Given the description of an element on the screen output the (x, y) to click on. 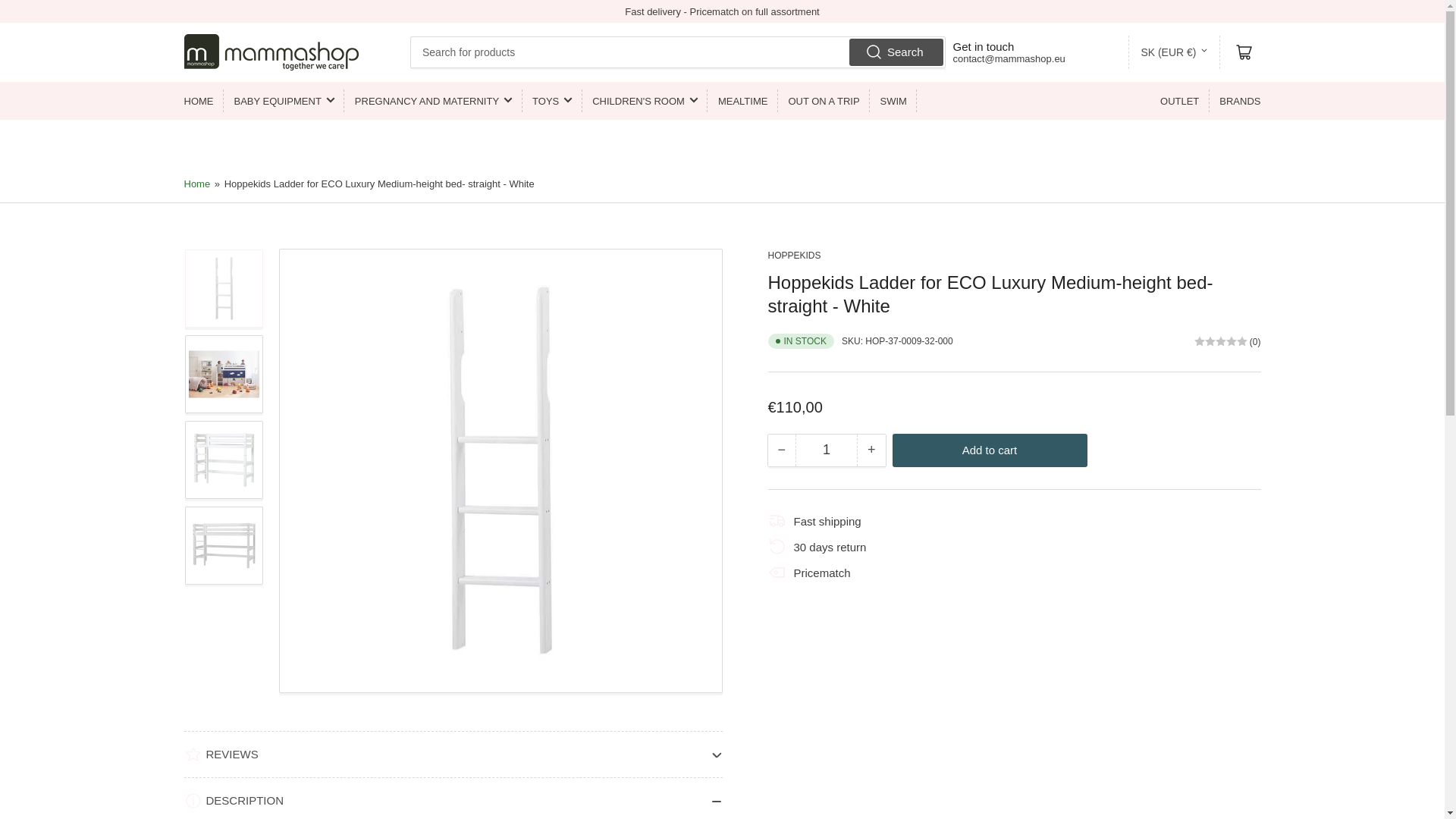
Search (896, 52)
Open mini cart (1243, 52)
1 (825, 450)
